Given the description of an element on the screen output the (x, y) to click on. 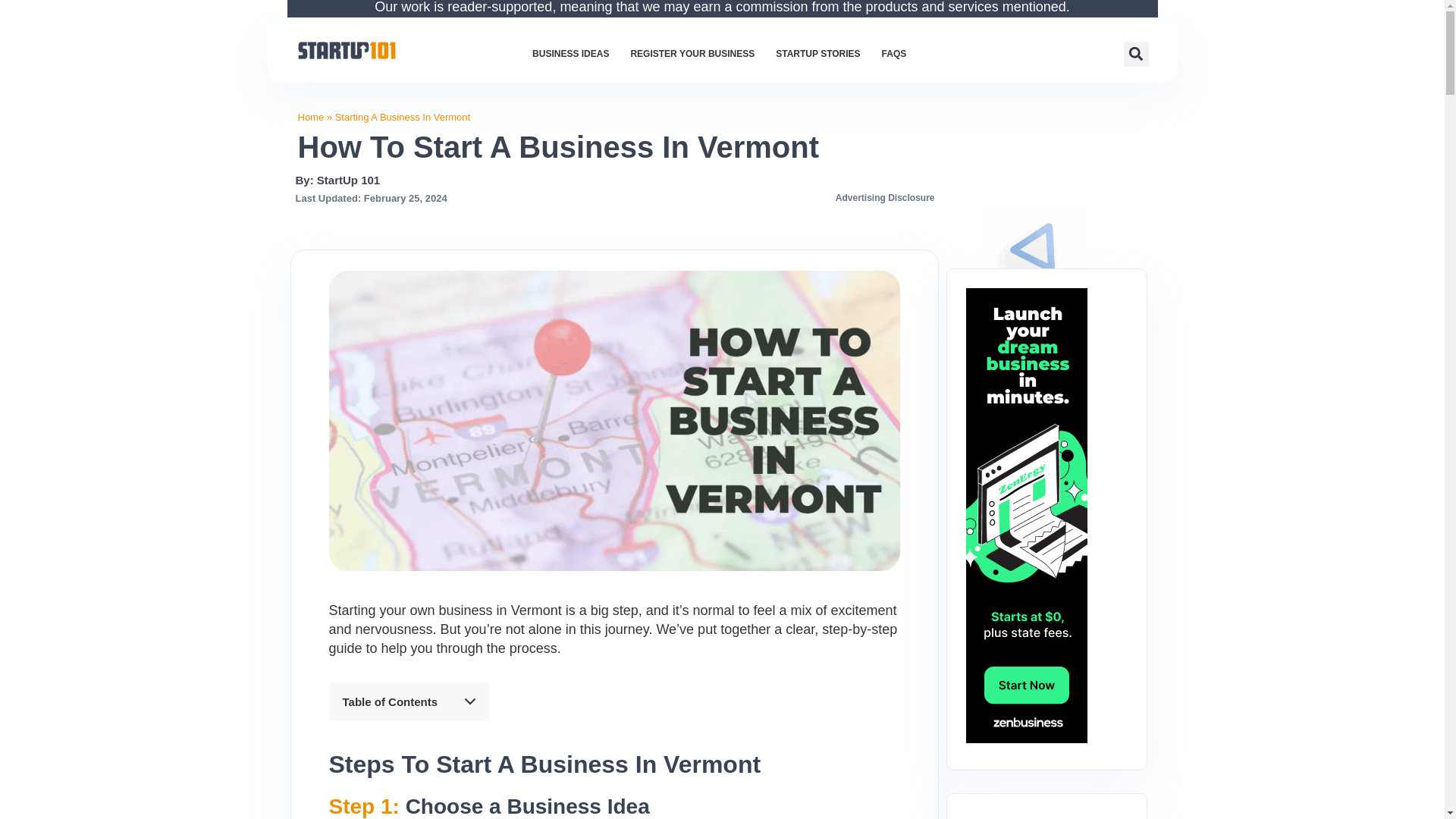
REGISTER YOUR BUSINESS (692, 53)
Home (310, 116)
FAQS (893, 53)
By: StartUp 101 (337, 180)
STARTUP STORIES (817, 53)
Starting A Business In Vermont (402, 116)
BUSINESS IDEAS (570, 53)
